Given the description of an element on the screen output the (x, y) to click on. 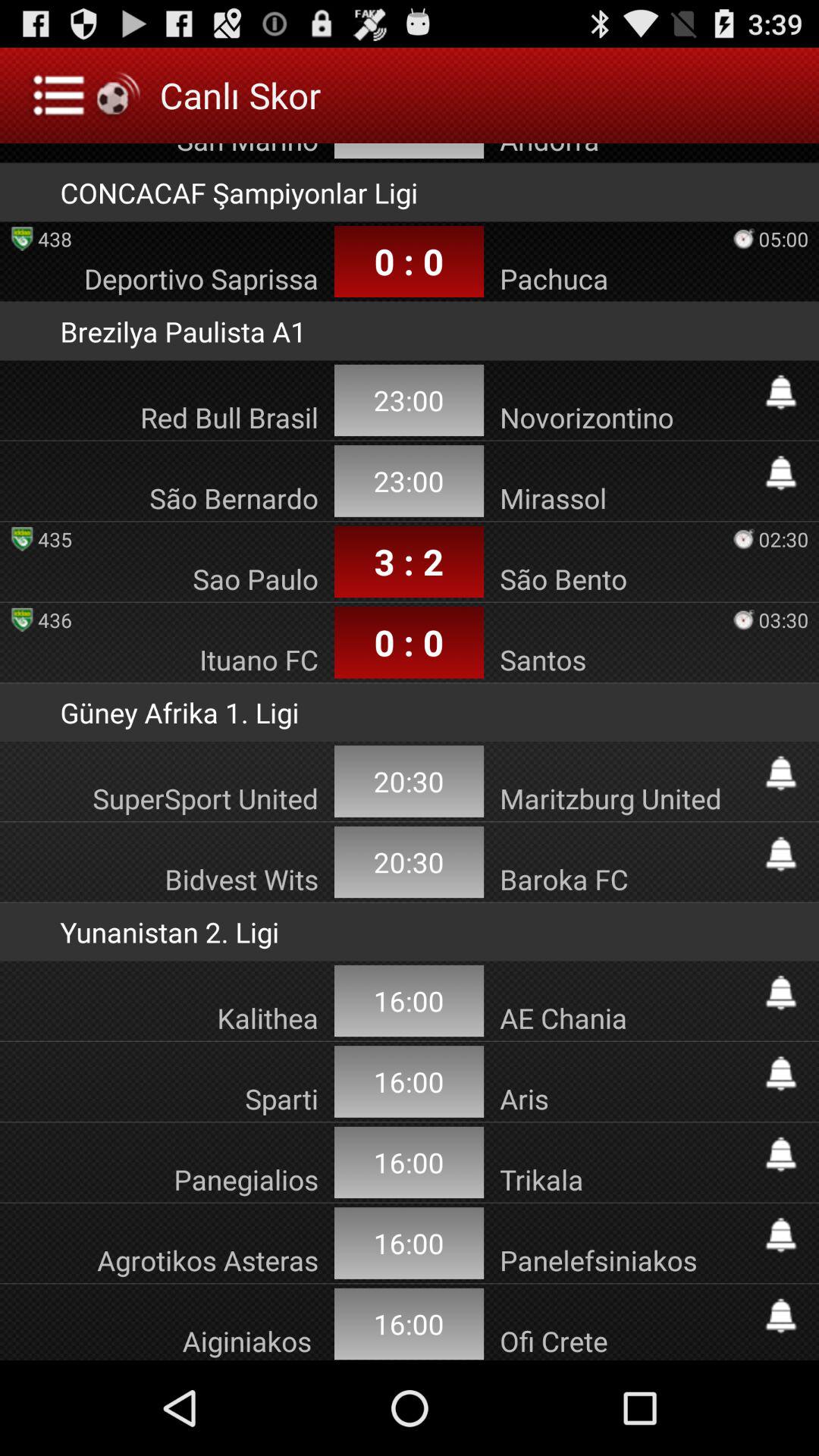
bein sports tr (780, 1235)
